Given the description of an element on the screen output the (x, y) to click on. 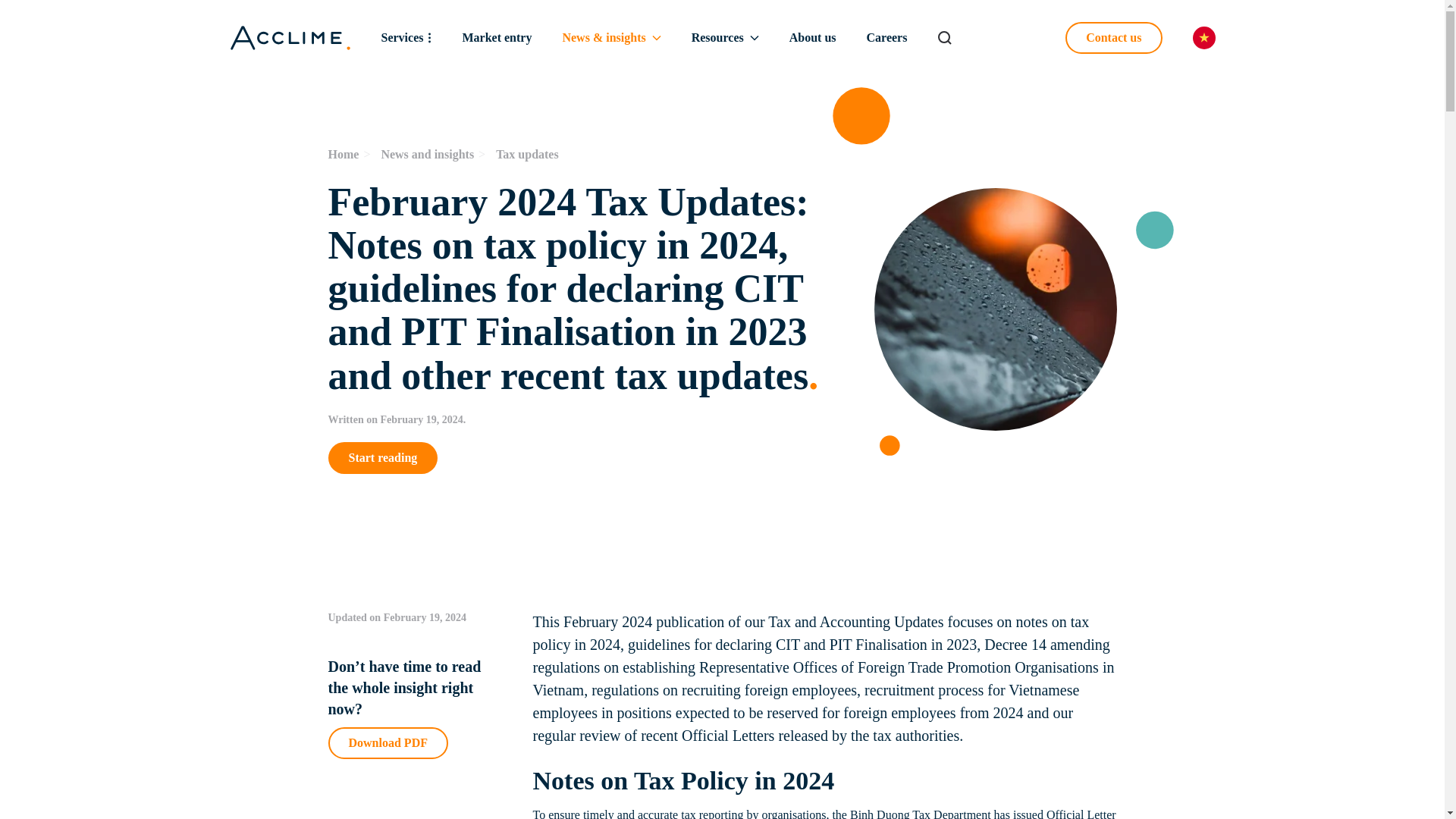
Start reading (585, 458)
Contact us (1113, 38)
Updated on February 19, 2024 (414, 617)
Market entry (496, 38)
Written on February 19, 2024. (585, 419)
Resources (585, 154)
